Given the description of an element on the screen output the (x, y) to click on. 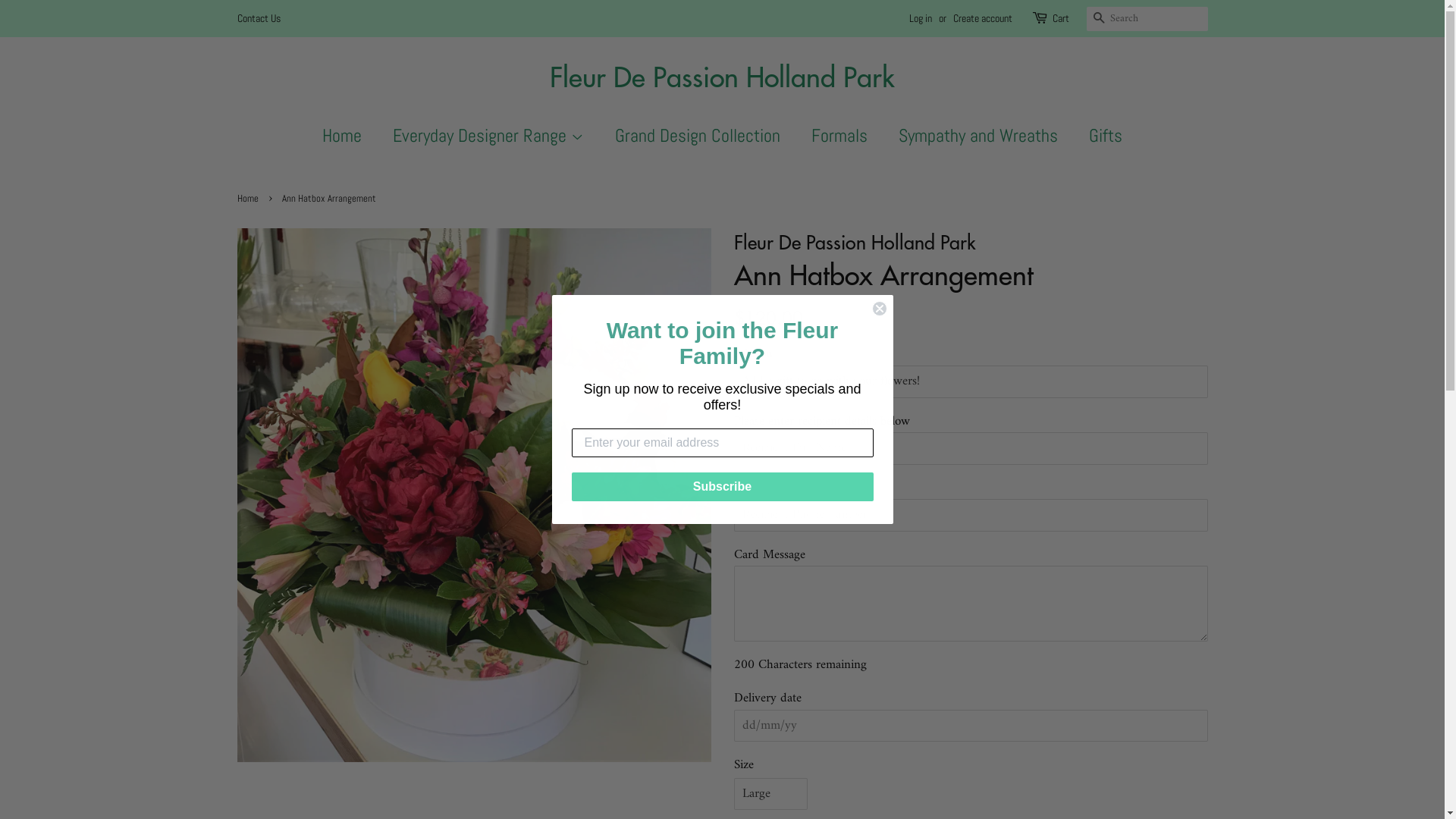
Everyday Designer Range Element type: text (490, 135)
Submit Element type: text (36, 22)
Home Element type: text (248, 198)
Sympathy and Wreaths Element type: text (980, 135)
Formals Element type: text (841, 135)
Home Element type: text (349, 135)
Gifts Element type: text (1099, 135)
Search Element type: text (1097, 18)
Fleur De Passion Holland Park Element type: text (721, 75)
Cart Element type: text (1060, 18)
Grand Design Collection Element type: text (699, 135)
Create account Element type: text (981, 18)
Contact Us Element type: text (257, 18)
Log in Element type: text (919, 18)
Subscribe Element type: text (722, 486)
